Given the description of an element on the screen output the (x, y) to click on. 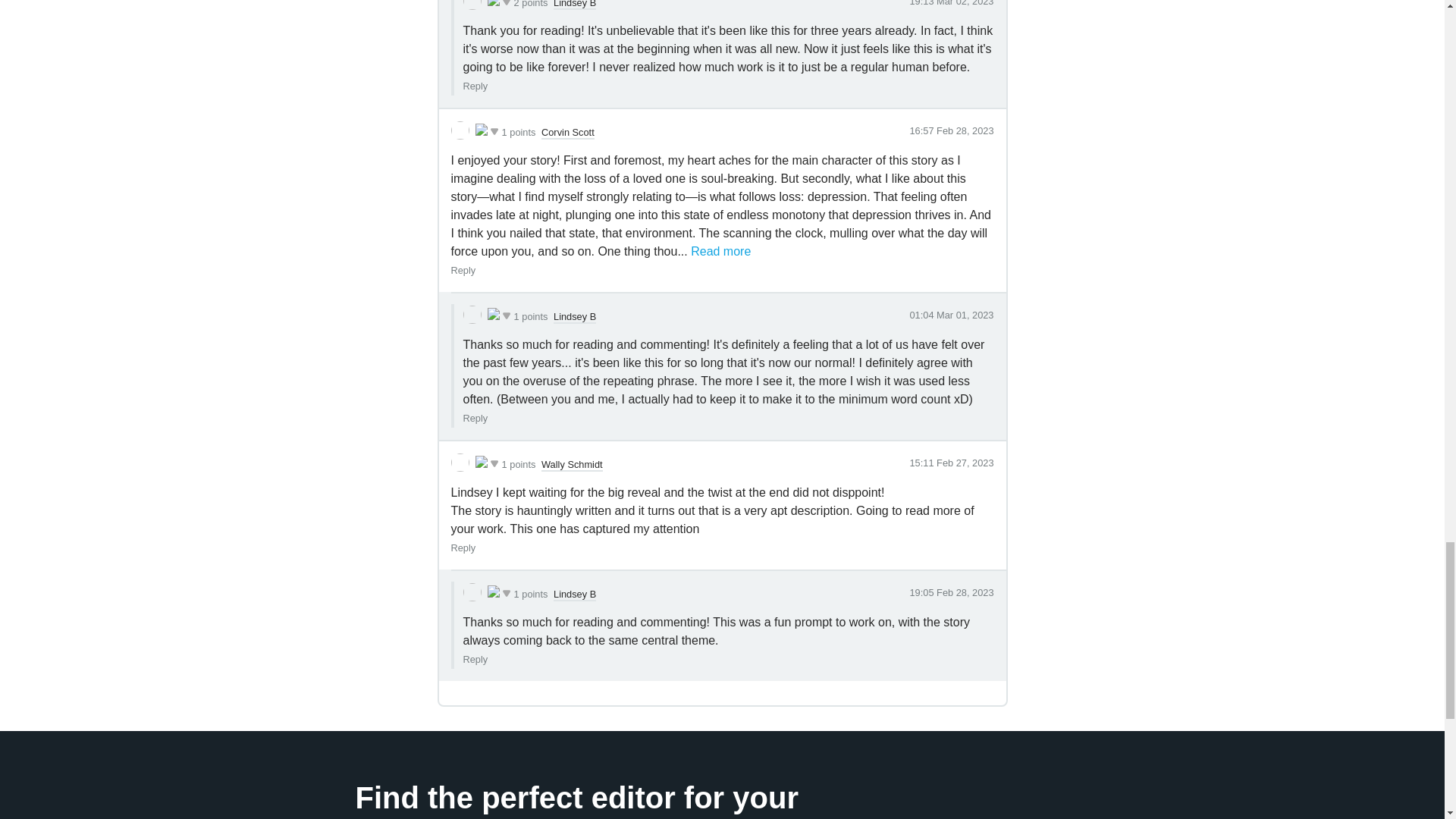
Read more (720, 251)
